Given the description of an element on the screen output the (x, y) to click on. 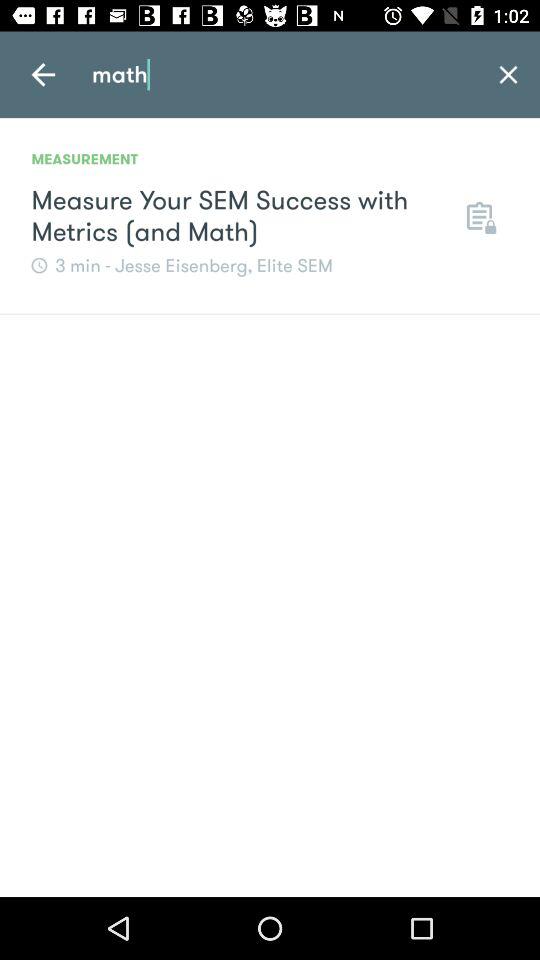
choose item below the math (479, 216)
